Given the description of an element on the screen output the (x, y) to click on. 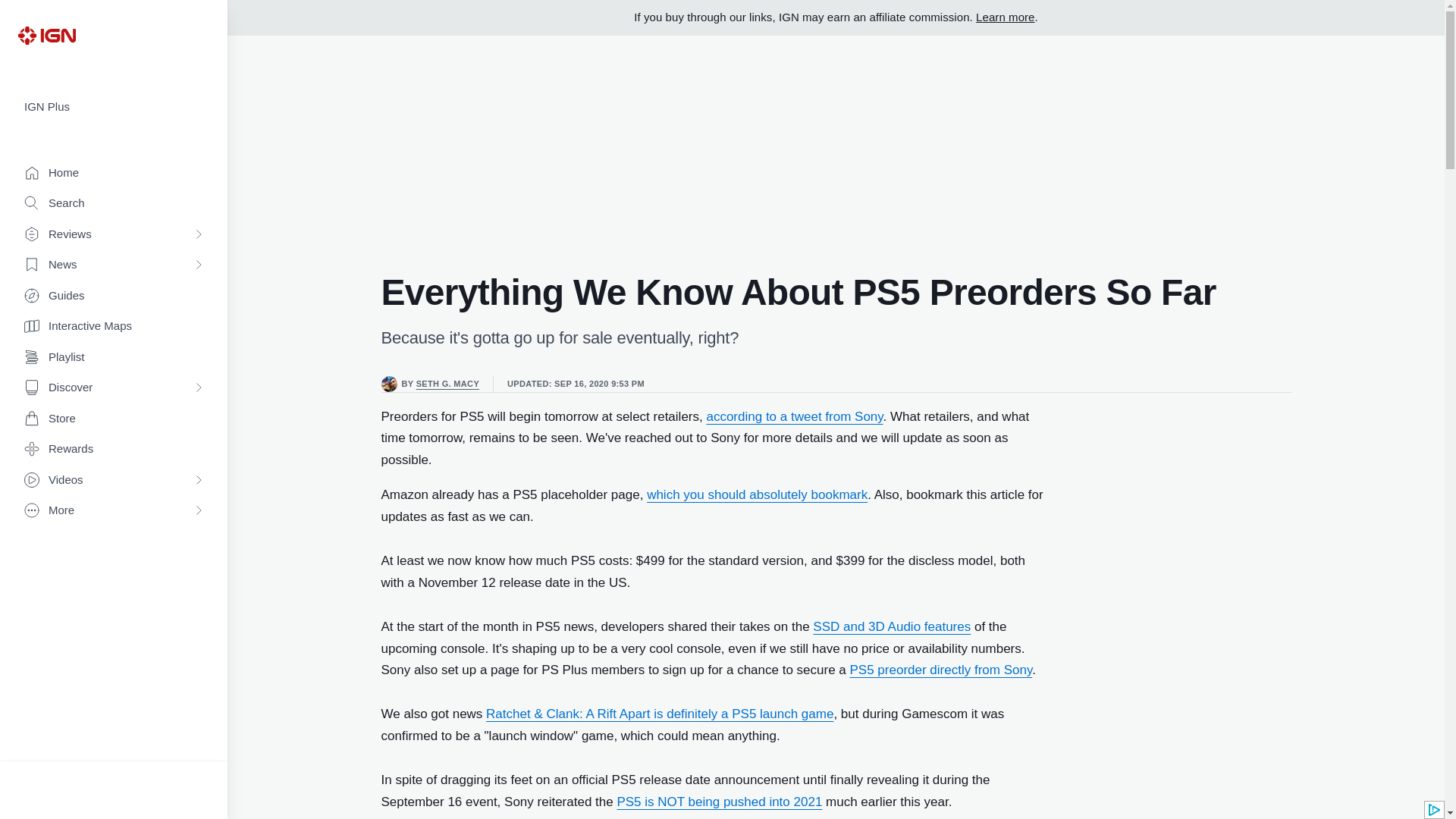
IGN Plus (113, 107)
Playlist (113, 357)
Home (113, 172)
IGN Logo (46, 35)
Reviews (113, 234)
Interactive Maps (113, 326)
Search (113, 203)
Reviews (113, 234)
Videos (113, 480)
Videos (113, 480)
